Given the description of an element on the screen output the (x, y) to click on. 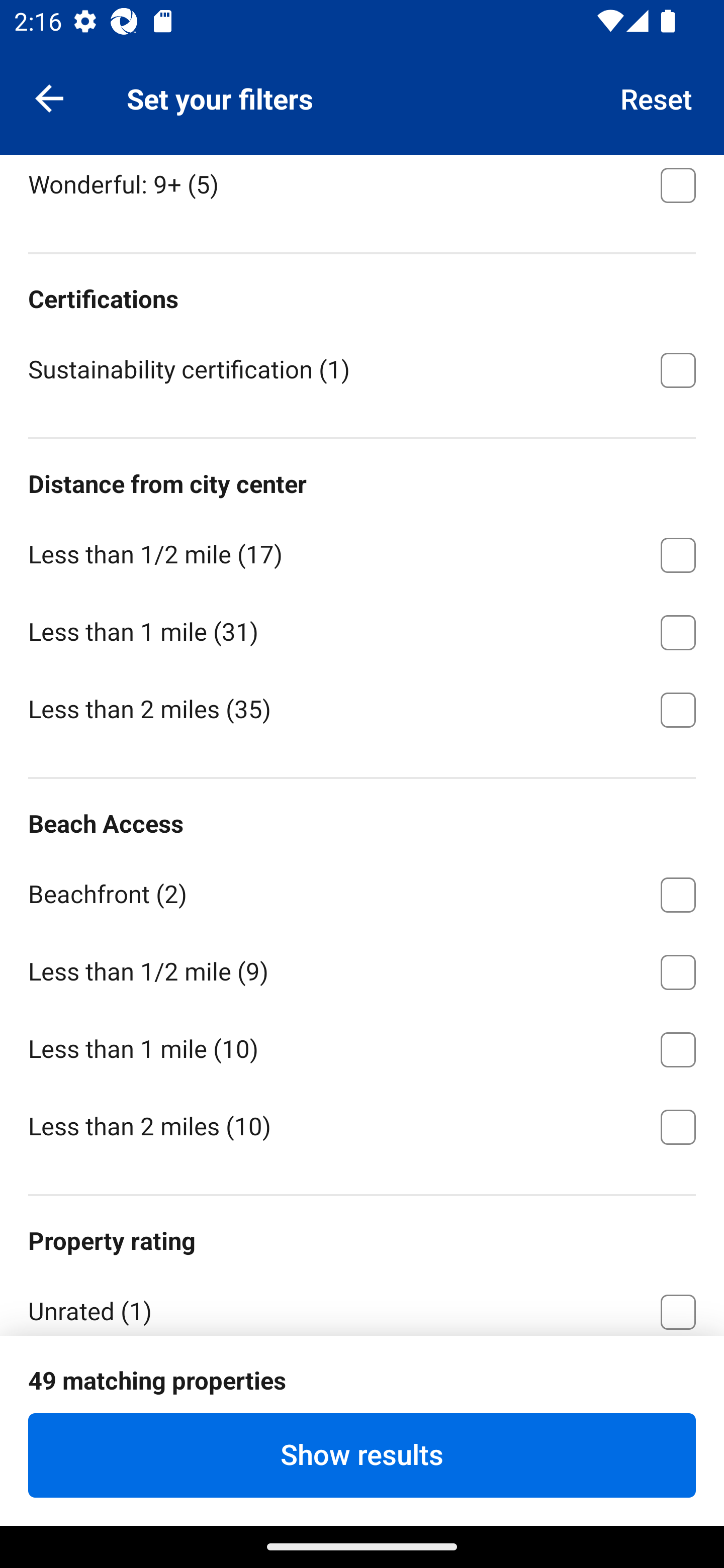
Navigate up (49, 97)
Reset (656, 97)
Very Good: 8+ ⁦(39) (361, 103)
Wonderful: 9+ ⁦(5) (361, 189)
Sustainability certification ⁦(1) (361, 368)
Less than 1/2 mile ⁦(17) (361, 551)
Less than 1 mile ⁦(31) (361, 629)
Less than 2 miles ⁦(35) (361, 708)
Beachfront ⁦(2) (361, 890)
Less than 1/2 mile ⁦(9) (361, 968)
Less than 1 mile ⁦(10) (361, 1046)
Less than 2 miles ⁦(10) (361, 1125)
Unrated ⁦(1) (361, 1302)
4 stars ⁦(22) (361, 1385)
Show results (361, 1454)
